Given the description of an element on the screen output the (x, y) to click on. 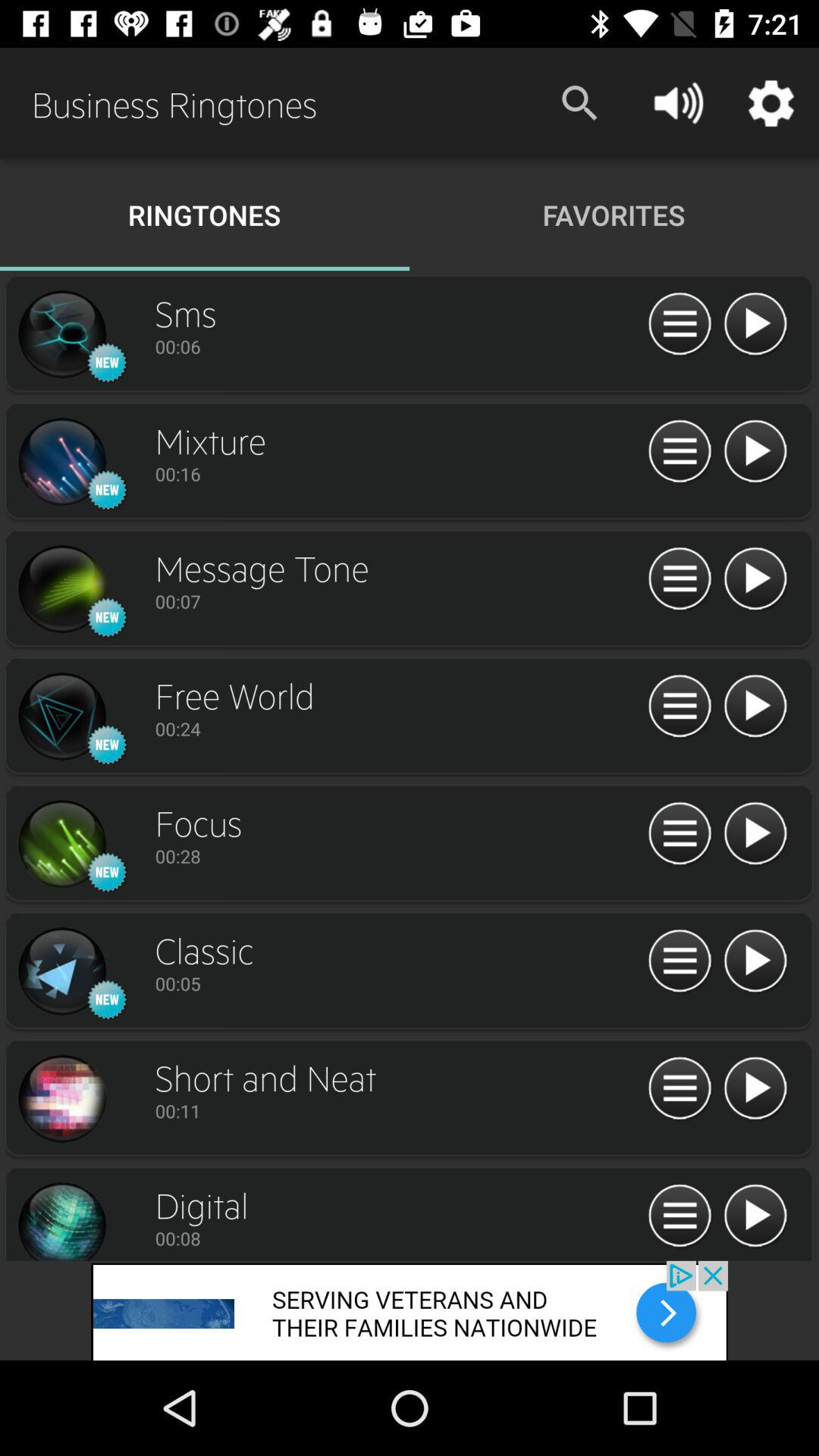
view profile (61, 334)
